Given the description of an element on the screen output the (x, y) to click on. 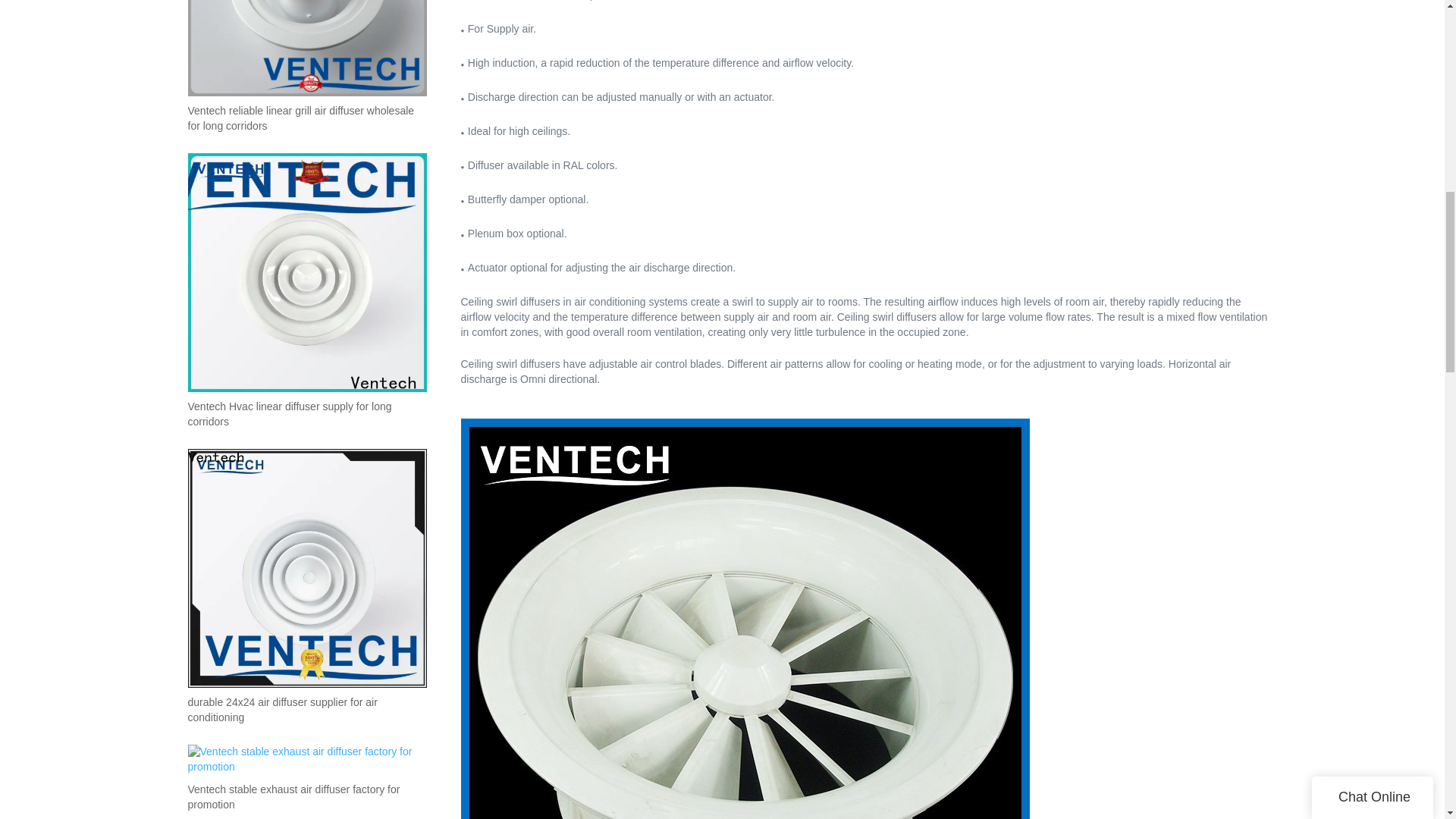
durable 24x24 air diffuser supplier for air conditioning (306, 710)
Ventech stable exhaust air diffuser factory for promotion (306, 797)
Ventech Hvac linear diffuser supply for long corridors (306, 414)
